Given the description of an element on the screen output the (x, y) to click on. 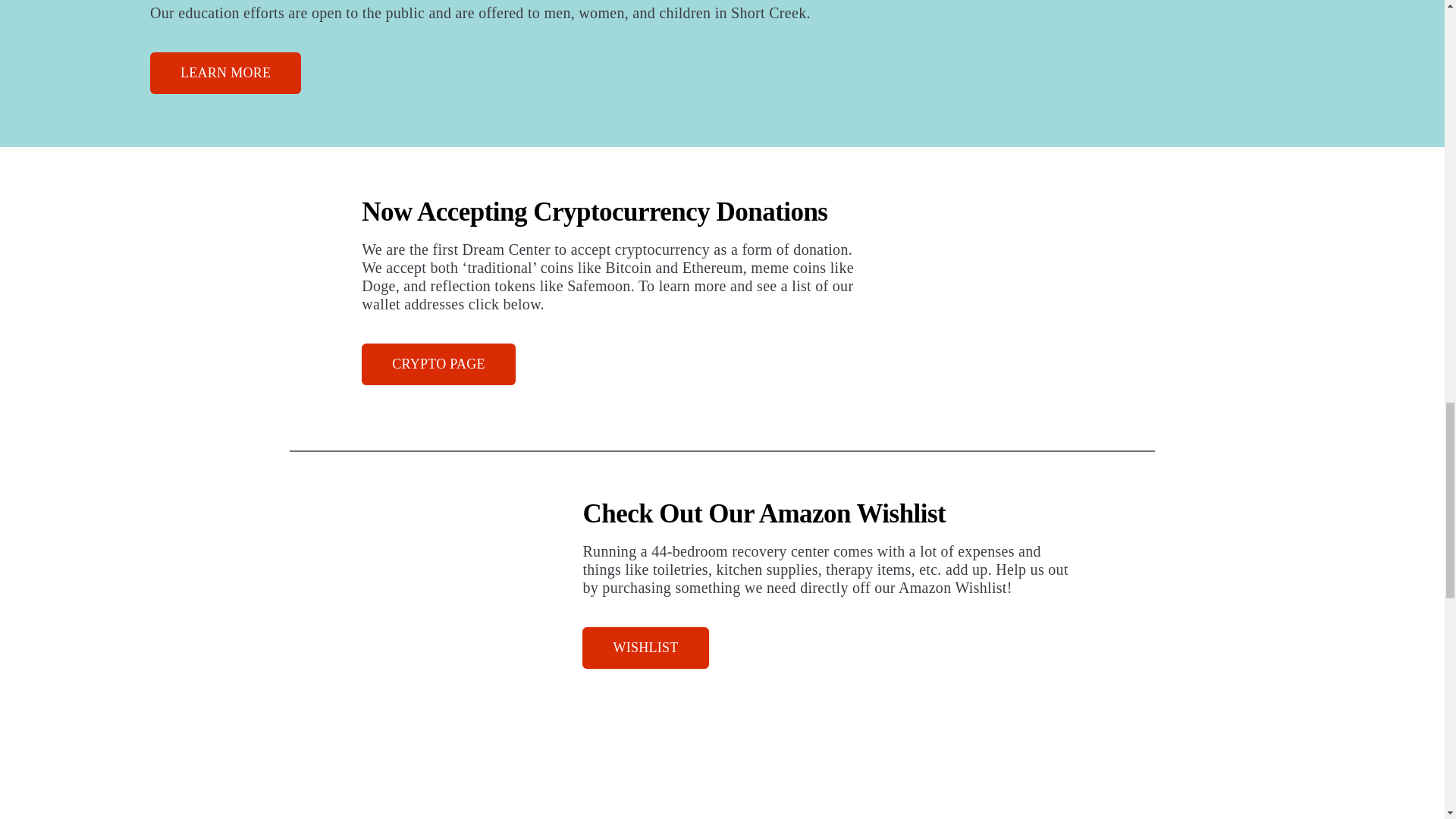
SCDC-People-on-Mountain (1013, 300)
SCDC-People-at-Meeting (430, 602)
Book-Icon (1054, 27)
